Given the description of an element on the screen output the (x, y) to click on. 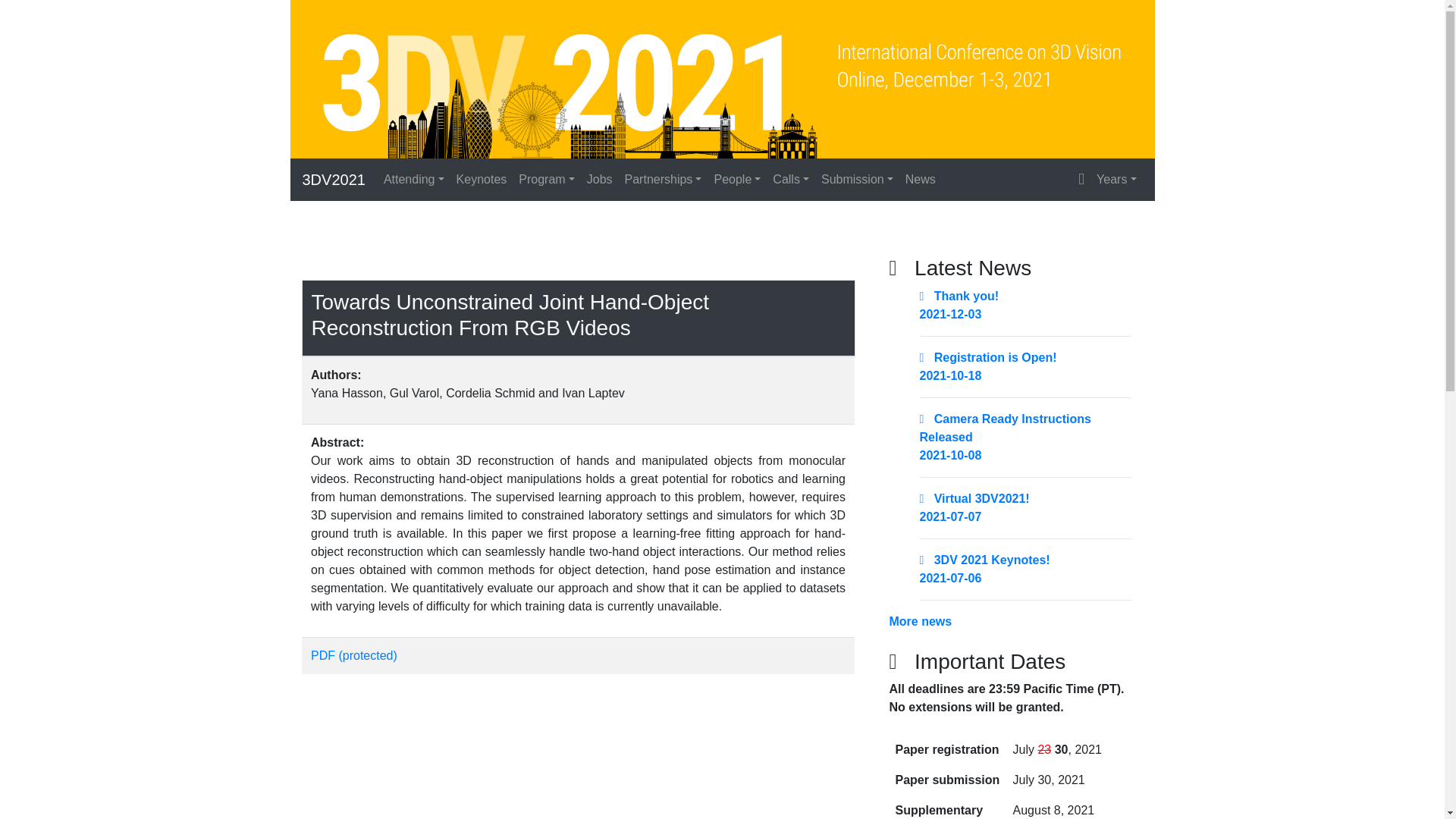
Attending (413, 179)
3DV2021 (333, 179)
Jobs (599, 179)
People (737, 179)
Program (545, 179)
Submission (857, 179)
News (920, 179)
Calls (791, 179)
Years (1115, 179)
Keynotes (481, 179)
